Given the description of an element on the screen output the (x, y) to click on. 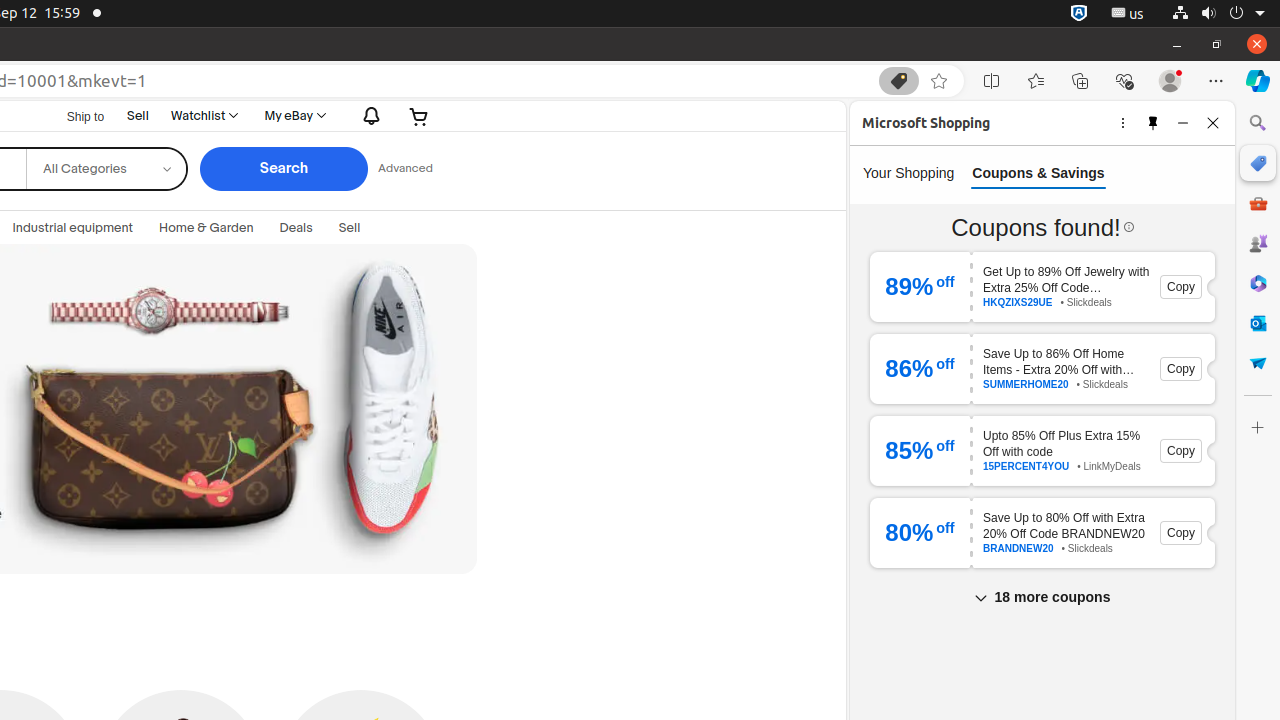
Sell Element type: link (138, 115)
Favorites Element type: push-button (1036, 81)
Ship to Element type: push-button (73, 117)
:1.72/StatusNotifierItem Element type: menu (1079, 13)
85 % off Upto 85% Off Plus Extra 15% Off with code 15PERCENT4YOU • LinkMyDeals Copy Element type: push-button (1042, 449)
